Given the description of an element on the screen output the (x, y) to click on. 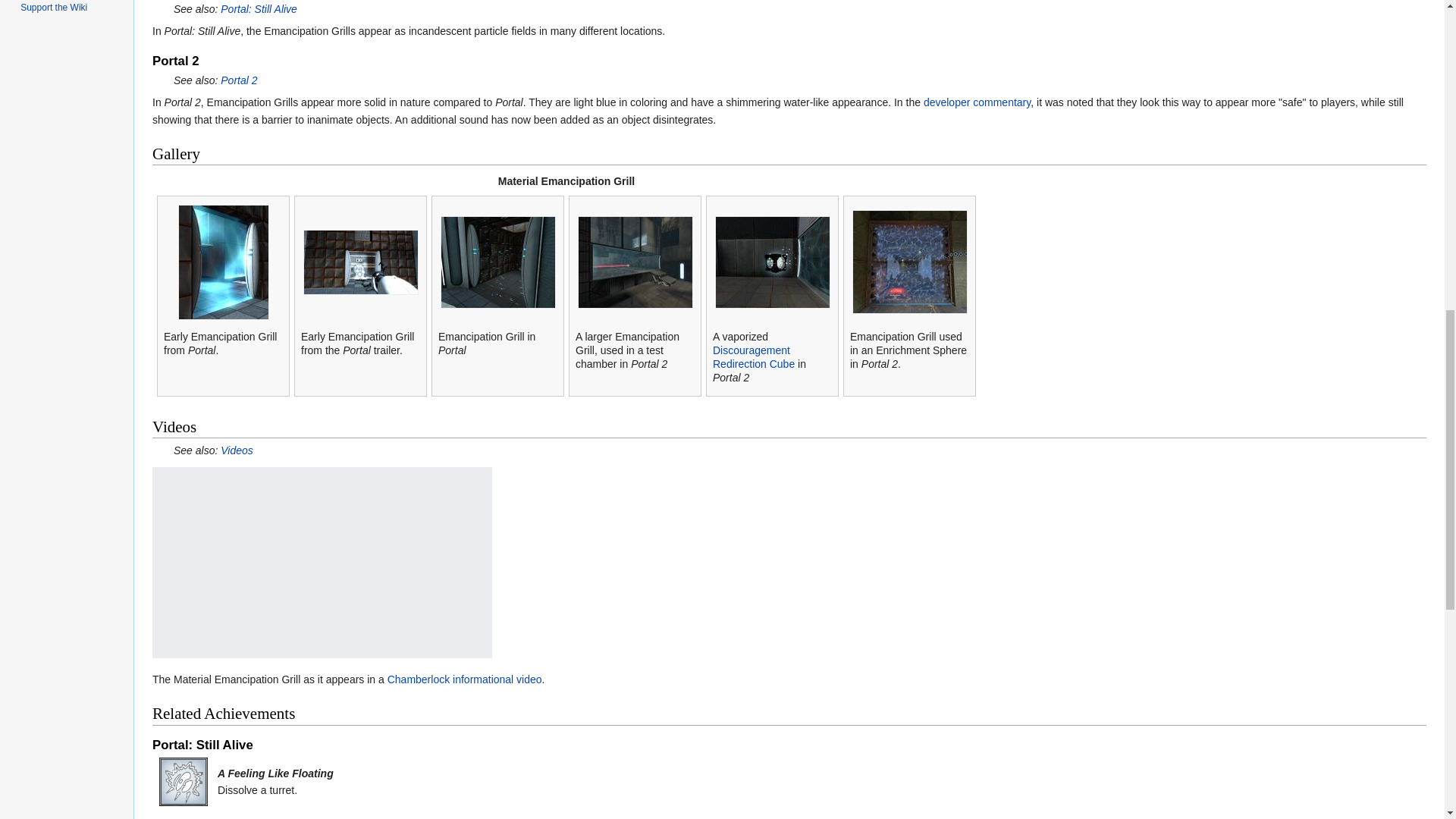
Portal 2 (239, 80)
developer commentary (976, 102)
Developer commentary (976, 102)
Early Emancipation Grill from Portal. (222, 260)
Portal: Still Alive (259, 9)
Discouragement Redirection Cube (753, 356)
Portal: Still Alive (259, 9)
Portal 2 (239, 80)
